Given the description of an element on the screen output the (x, y) to click on. 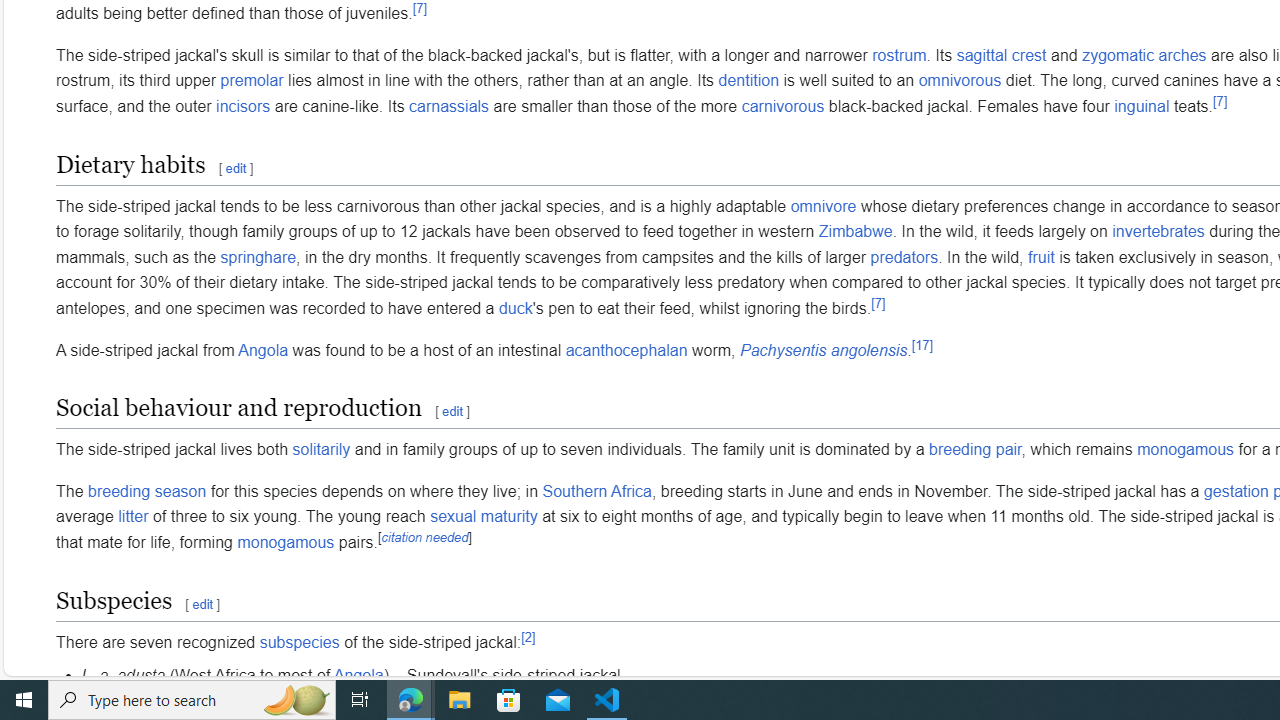
carnassials (449, 106)
Angola (358, 675)
[7] (877, 303)
premolar (252, 81)
dentition (748, 81)
[17] (922, 344)
[2] (528, 637)
sexual maturity (483, 517)
omnivore (823, 206)
invertebrates (1158, 232)
sagittal crest (1001, 55)
subspecies (299, 641)
acanthocephalan (626, 350)
duck (514, 307)
litter (132, 517)
